Given the description of an element on the screen output the (x, y) to click on. 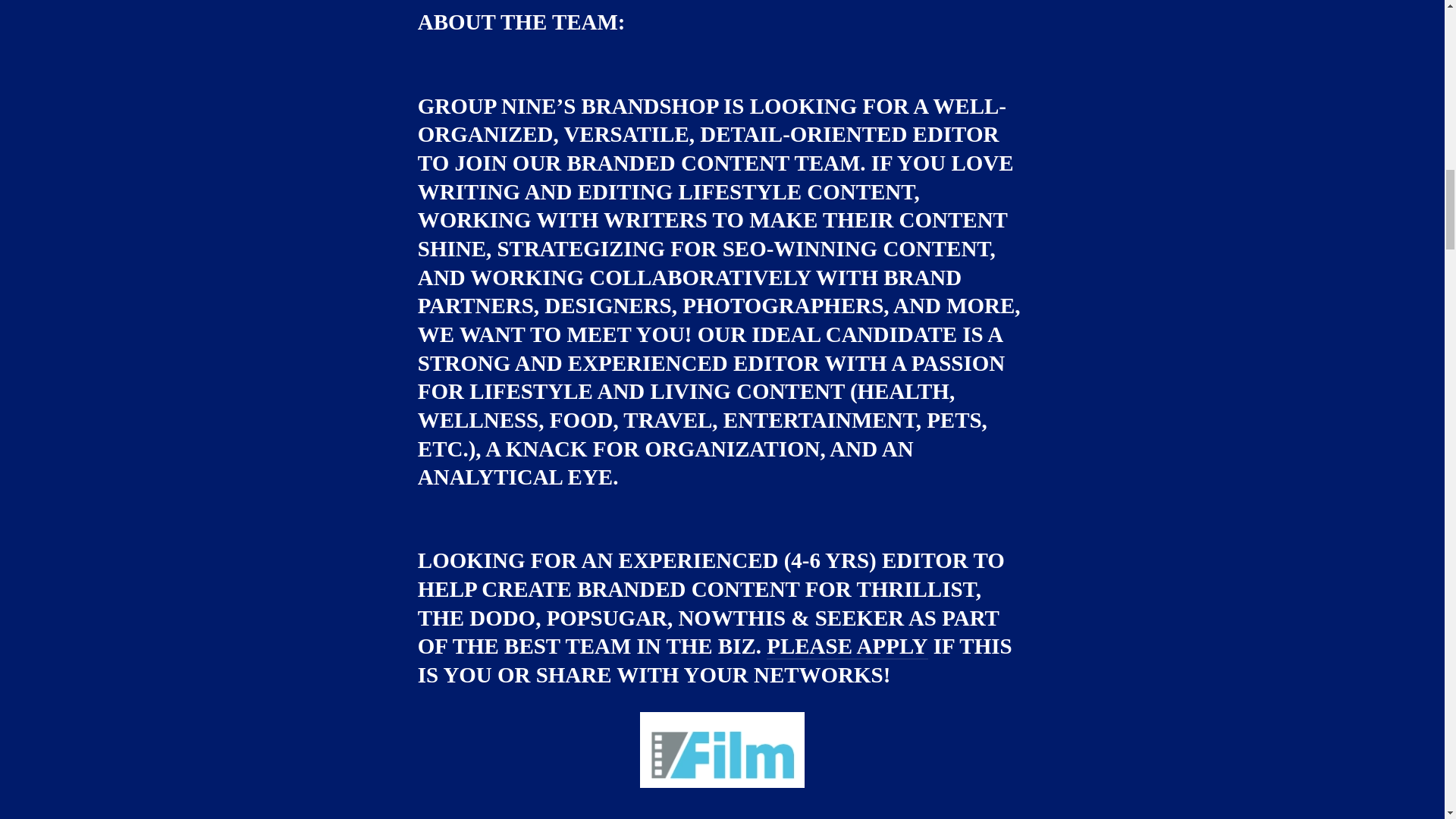
PLEASE APPLY (847, 646)
